Given the description of an element on the screen output the (x, y) to click on. 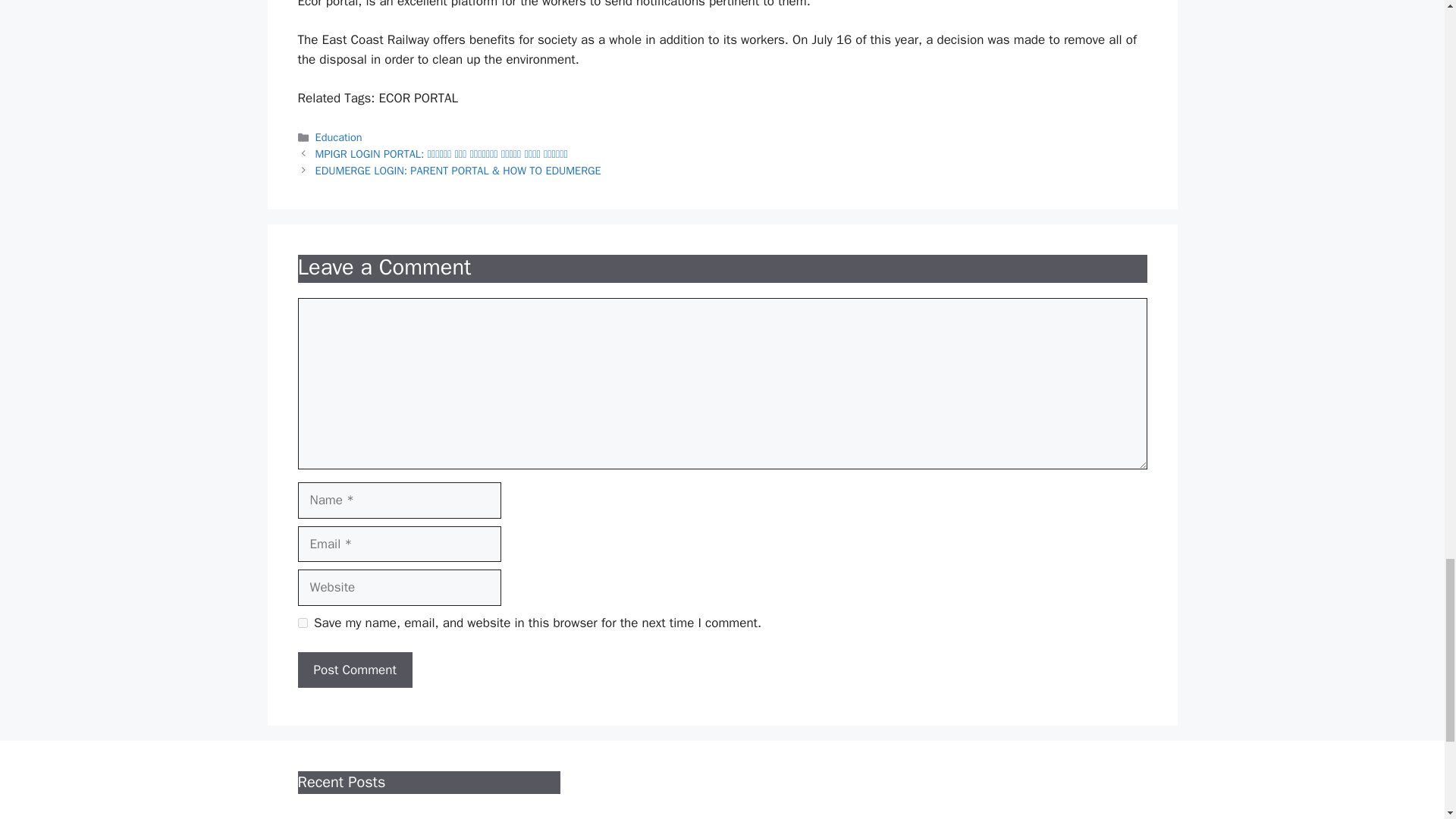
Education (338, 137)
Post Comment (354, 669)
Post Comment (354, 669)
yes (302, 623)
